Given the description of an element on the screen output the (x, y) to click on. 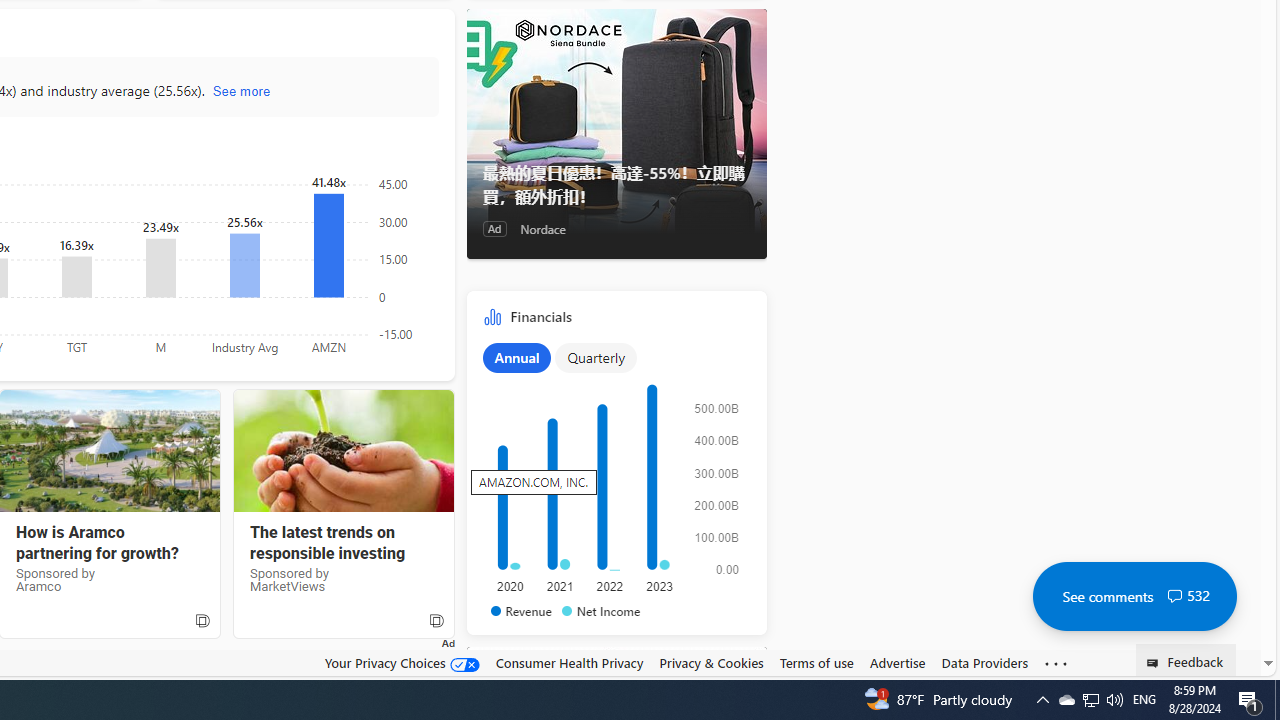
Privacy & Cookies (711, 662)
Your Privacy Choices (401, 663)
Terms of use (816, 662)
Class: feedback_link_icon-DS-EntryPoint1-1 (1156, 663)
Class: chartOuter-DS-EntryPoint1-1 (612, 479)
Data Providers (983, 663)
Ad (493, 228)
Class: cwt-icon-vector (1174, 596)
Data Providers (983, 662)
Class: chartSvg (612, 477)
Class: oneFooter_seeMore-DS-EntryPoint1-1 (1055, 663)
MarketViews (343, 451)
Your Privacy Choices (401, 662)
